Given the description of an element on the screen output the (x, y) to click on. 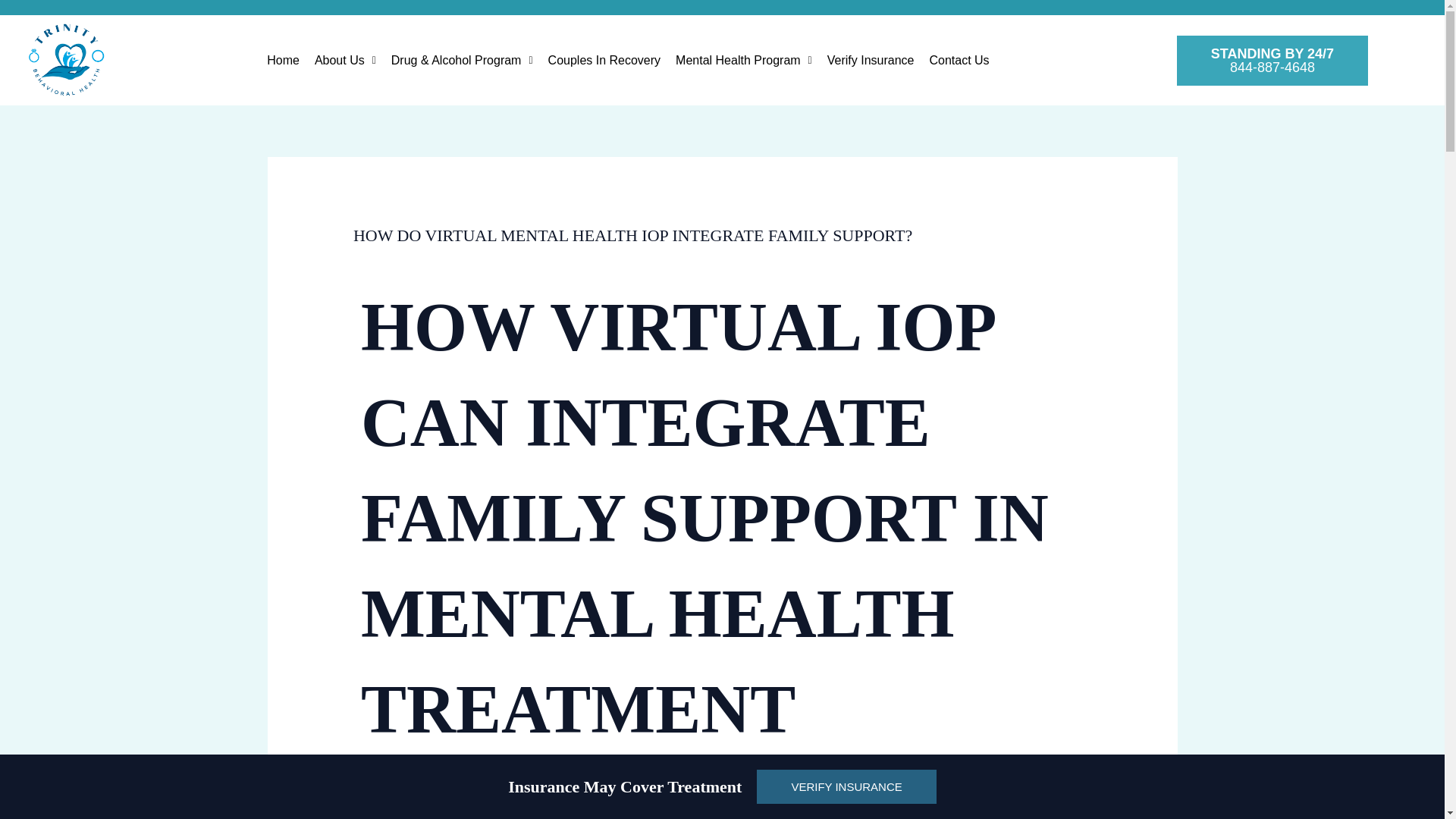
Contact Us (958, 60)
About Us (345, 60)
Couples In Recovery (604, 60)
Mental Health Program (743, 60)
Verify Insurance (870, 60)
Home (283, 60)
